Given the description of an element on the screen output the (x, y) to click on. 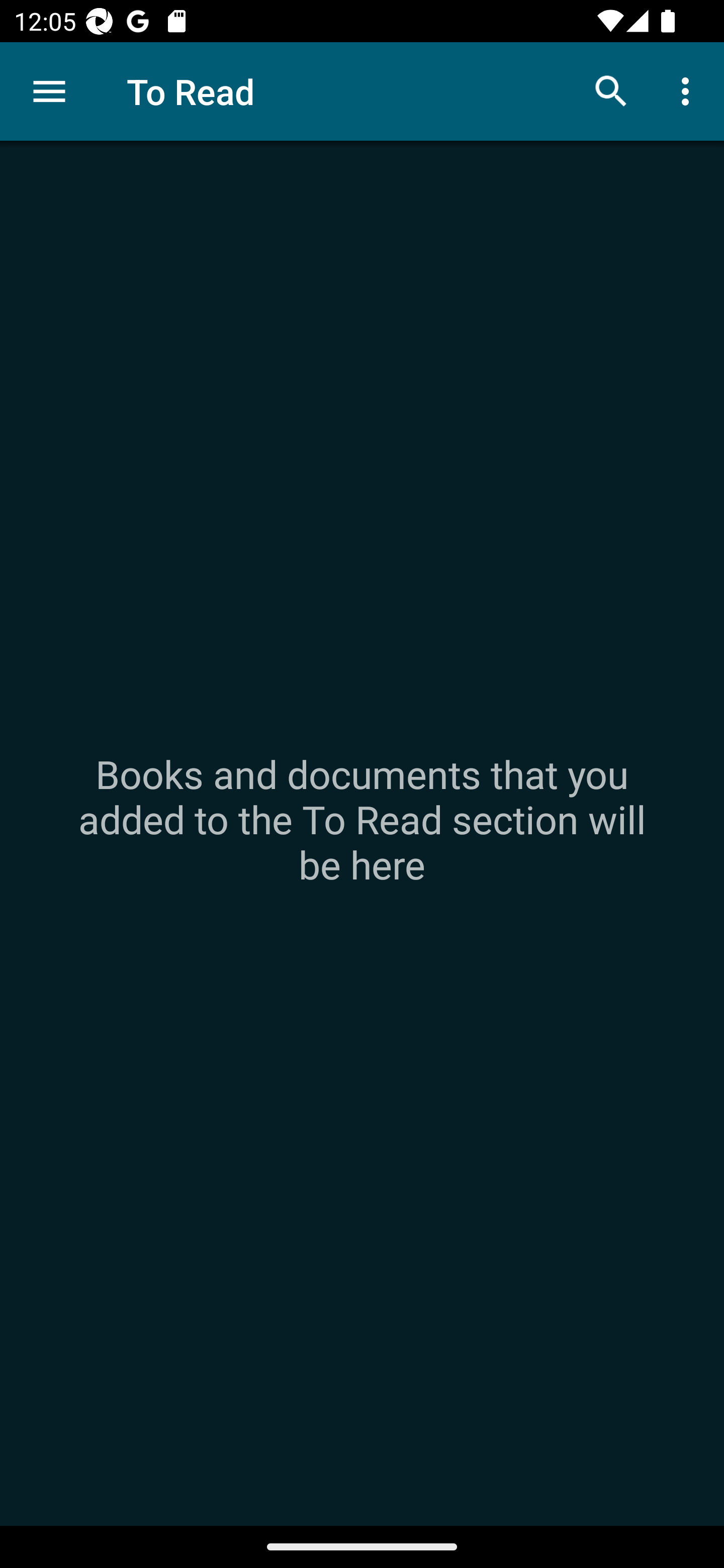
Menu (49, 91)
Search books & documents (611, 90)
More options (688, 90)
